Given the description of an element on the screen output the (x, y) to click on. 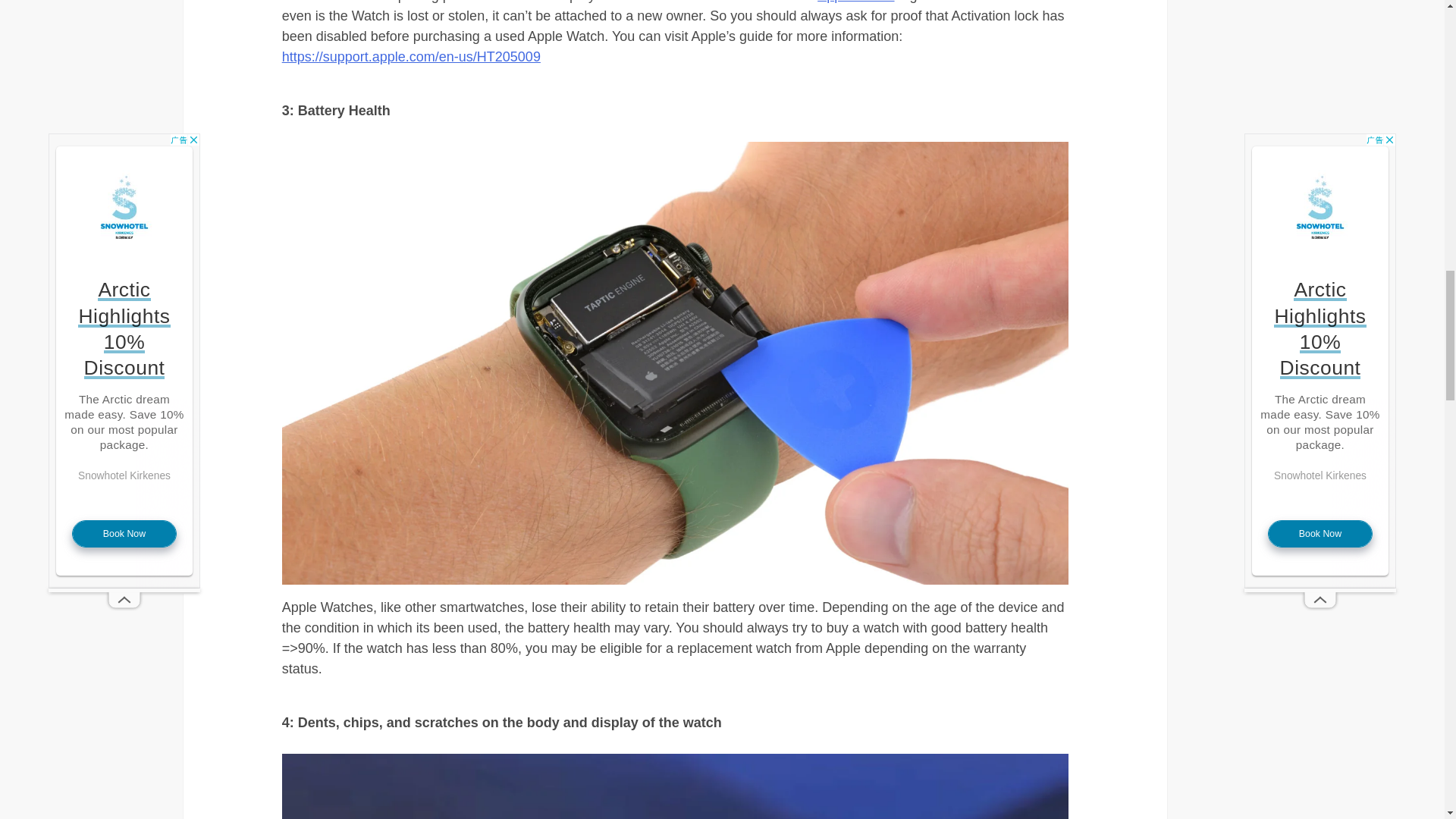
Apple Watch (854, 1)
